Given the description of an element on the screen output the (x, y) to click on. 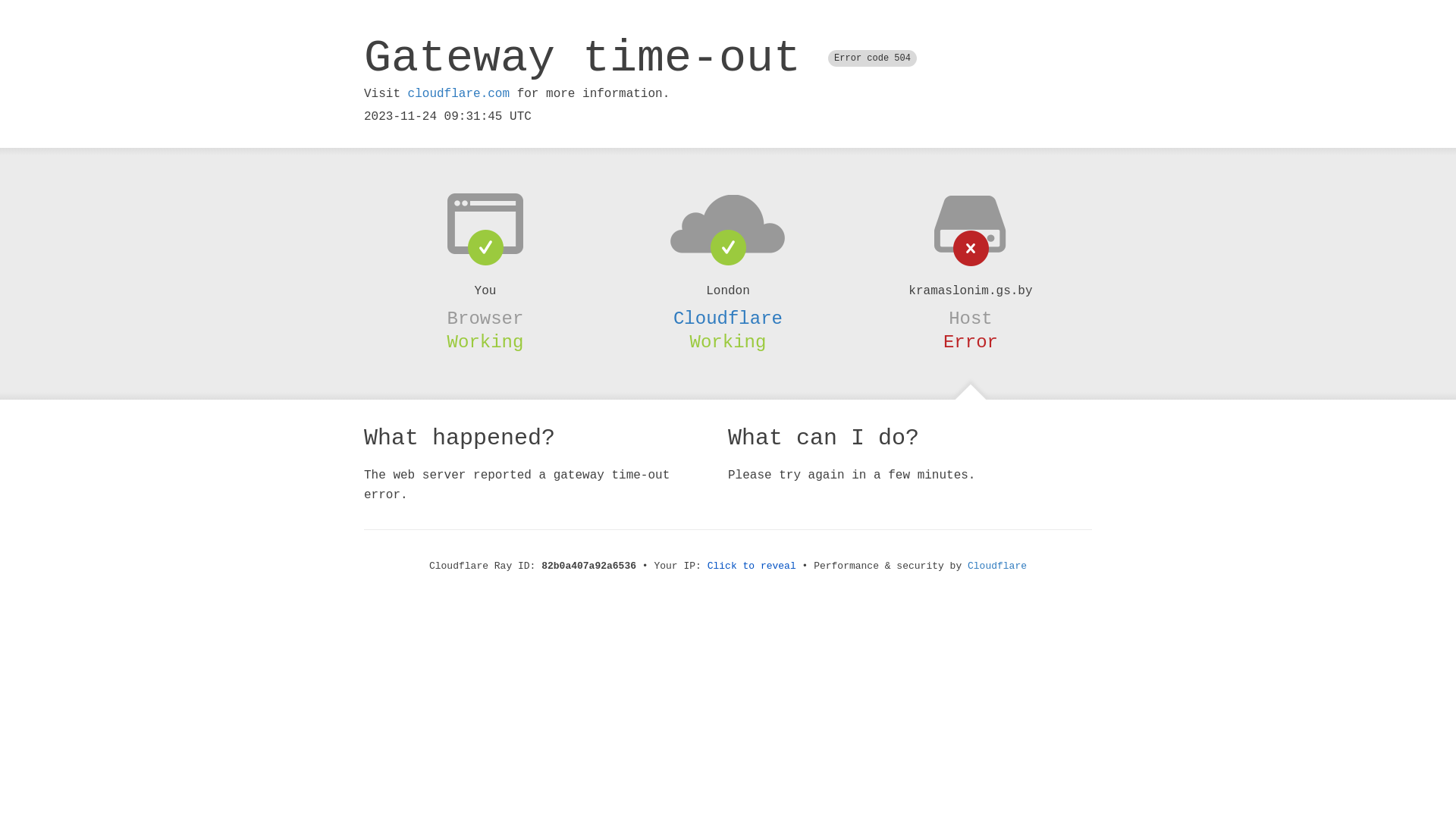
cloudflare.com Element type: text (458, 93)
Cloudflare Element type: text (996, 565)
Click to reveal Element type: text (751, 565)
Cloudflare Element type: text (727, 318)
